Given the description of an element on the screen output the (x, y) to click on. 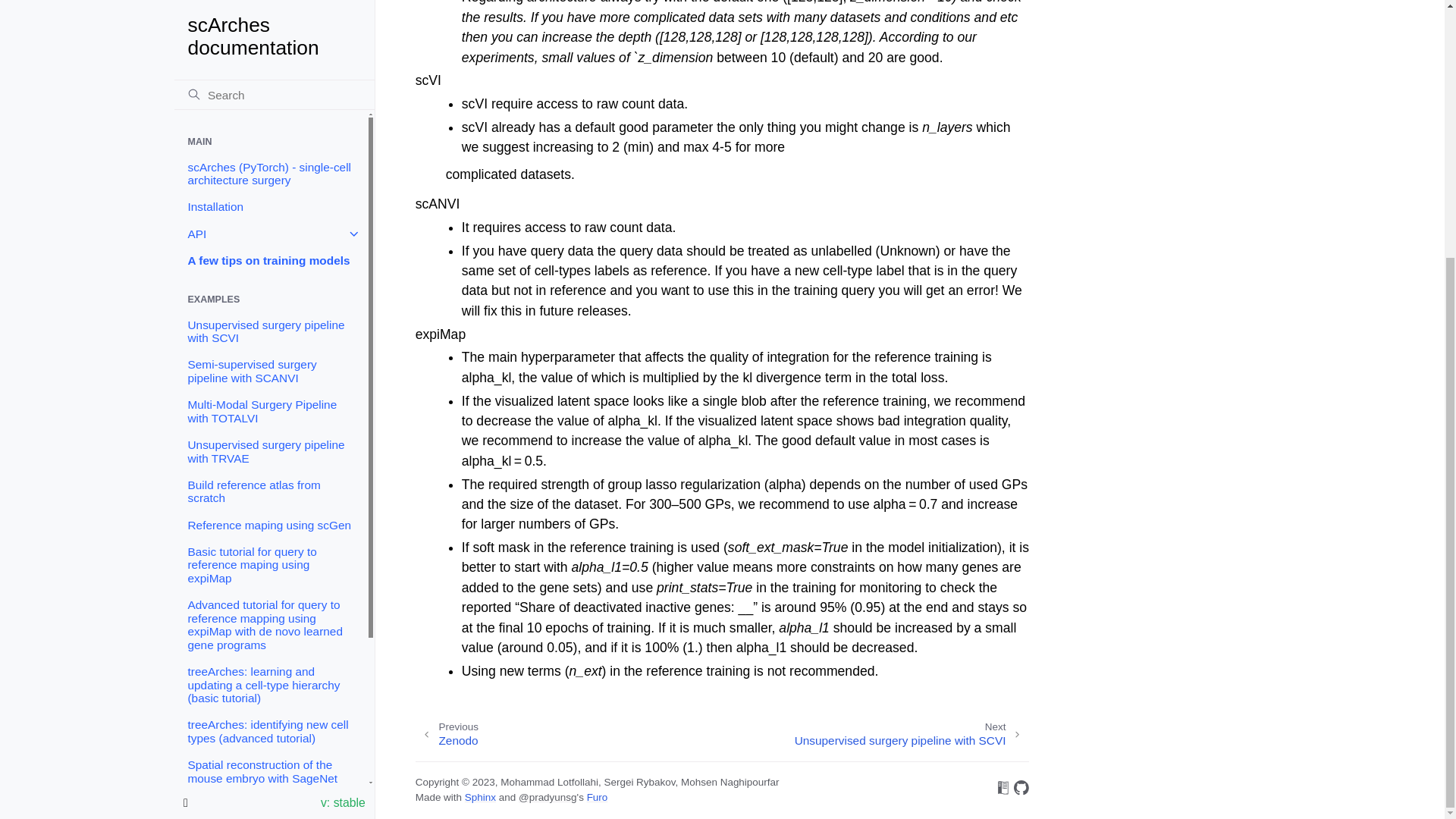
Sphinx (480, 797)
Multi-Modal Surgery Pipeline with TOTALVI (911, 734)
Integration and reference mapping with multigrate (446, 734)
Spatial reconstruction of the mouse embryo with SageNet (270, 43)
Semi-supervised surgery pipeline with SCANVI (270, 470)
Tutorial for mvTCR (270, 404)
Reference maping using scGen (270, 12)
